Given the description of an element on the screen output the (x, y) to click on. 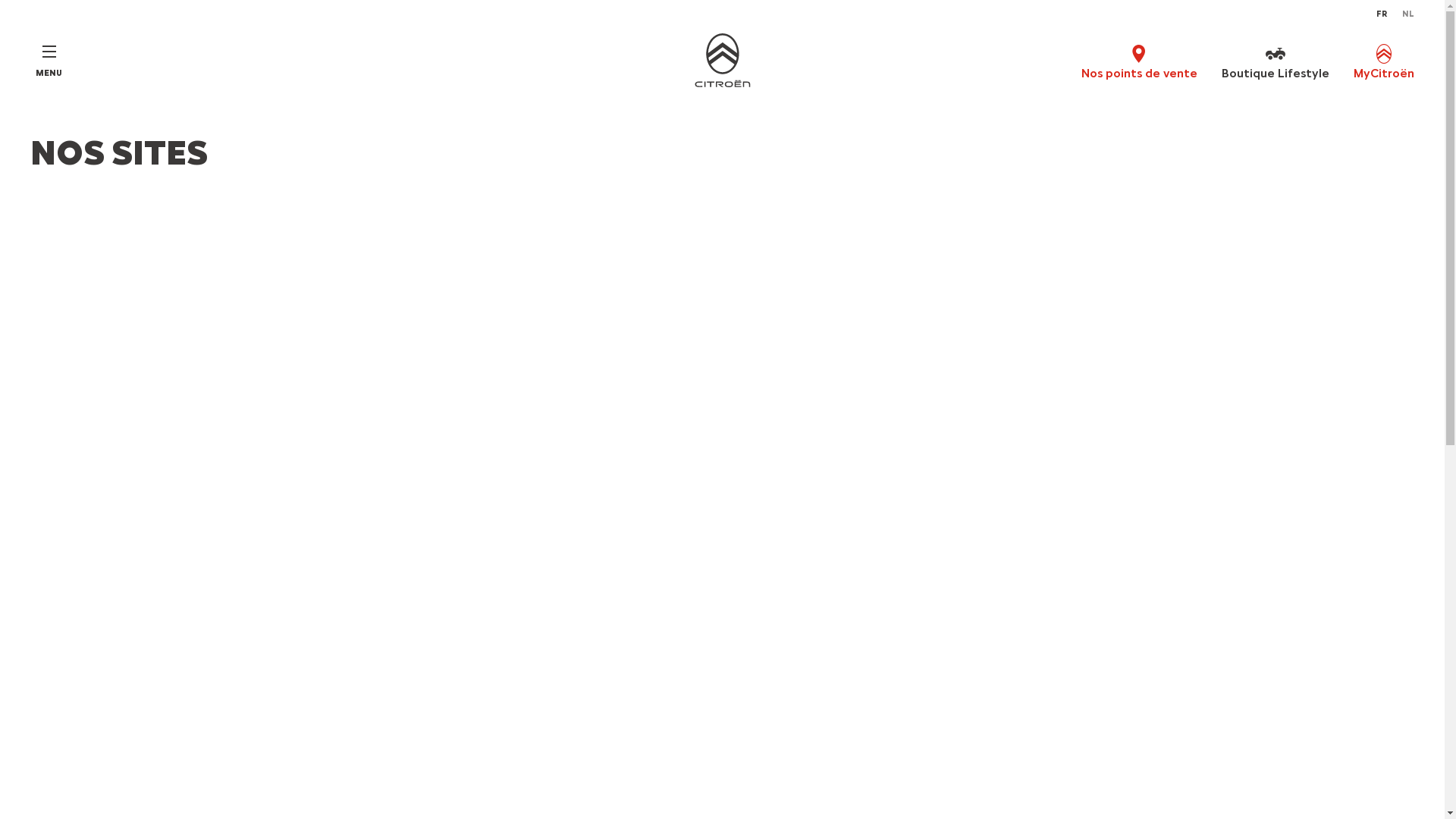
Boutique Lifestyle Element type: text (1275, 60)
FR Element type: text (1381, 13)
Nos points de vente Element type: text (1139, 60)
NL Element type: text (1408, 13)
MENU Element type: text (48, 61)
Home Element type: hover (721, 61)
